Given the description of an element on the screen output the (x, y) to click on. 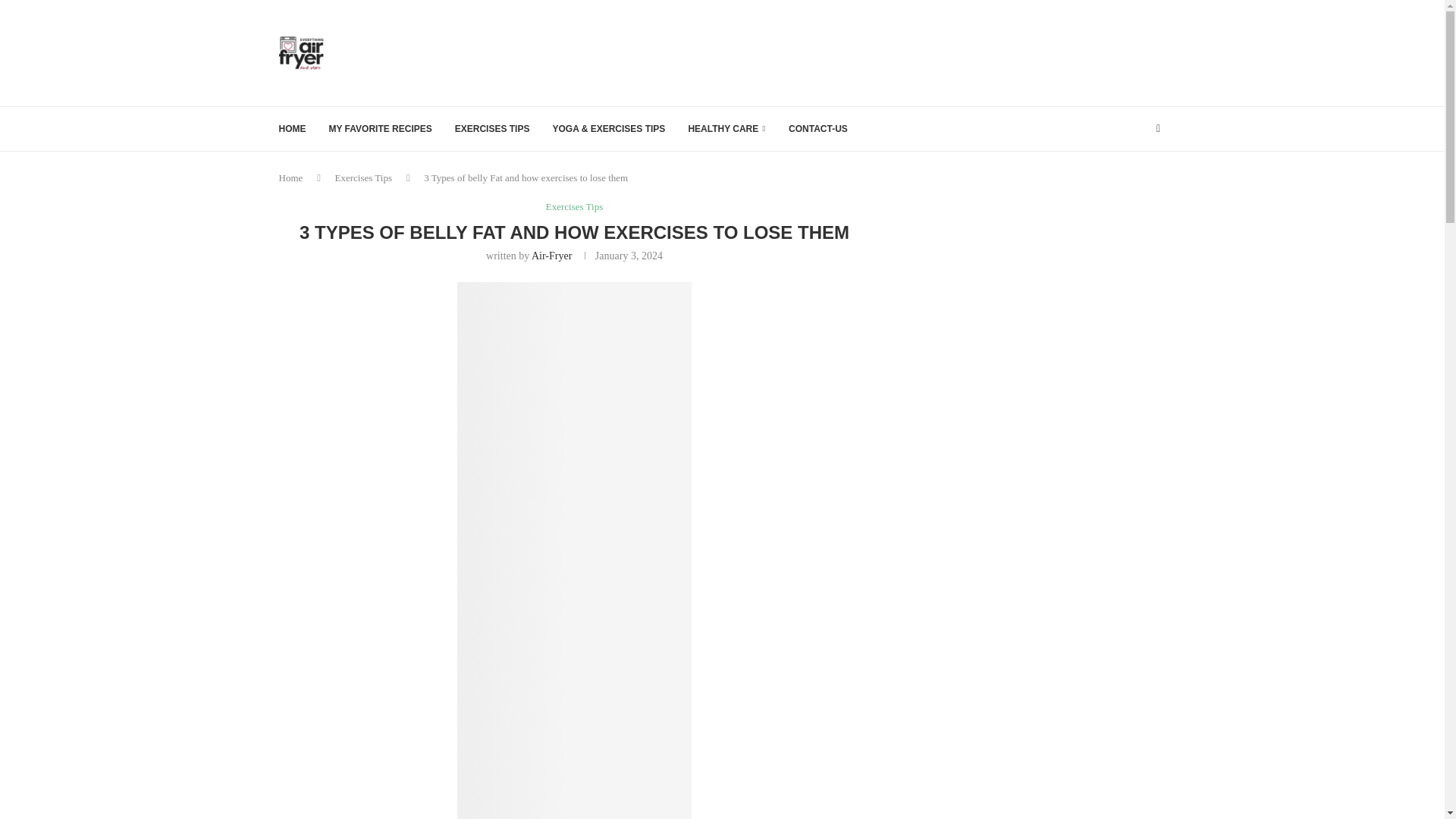
Exercises Tips (362, 177)
EXERCISES TIPS (491, 128)
CONTACT-US (818, 128)
Home (290, 177)
Air-Fryer (551, 255)
MY FAVORITE RECIPES (380, 128)
Exercises Tips (574, 206)
HEALTHY CARE (726, 128)
